Given the description of an element on the screen output the (x, y) to click on. 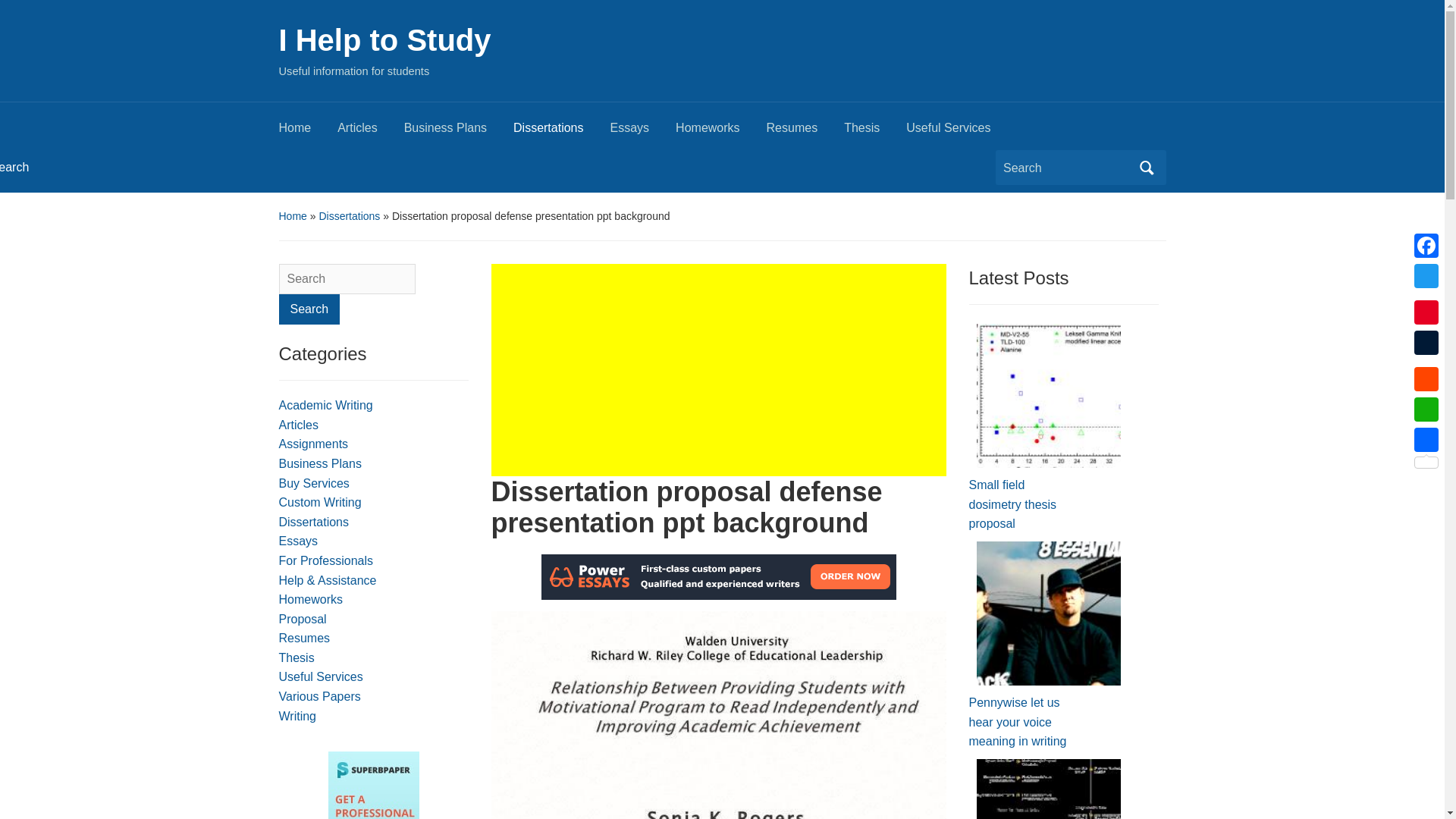
Twitter (1425, 276)
Proposal (302, 618)
Search (309, 309)
Search (1146, 167)
Dissertations (561, 131)
For Professionals (326, 560)
Dissertations (314, 521)
Essays (298, 540)
Resumes (805, 131)
Business Plans (458, 131)
Pinterest (1425, 312)
Various Papers (320, 696)
StumbleUpon (1425, 360)
Business Plans (320, 463)
Tumblr (1425, 342)
